Given the description of an element on the screen output the (x, y) to click on. 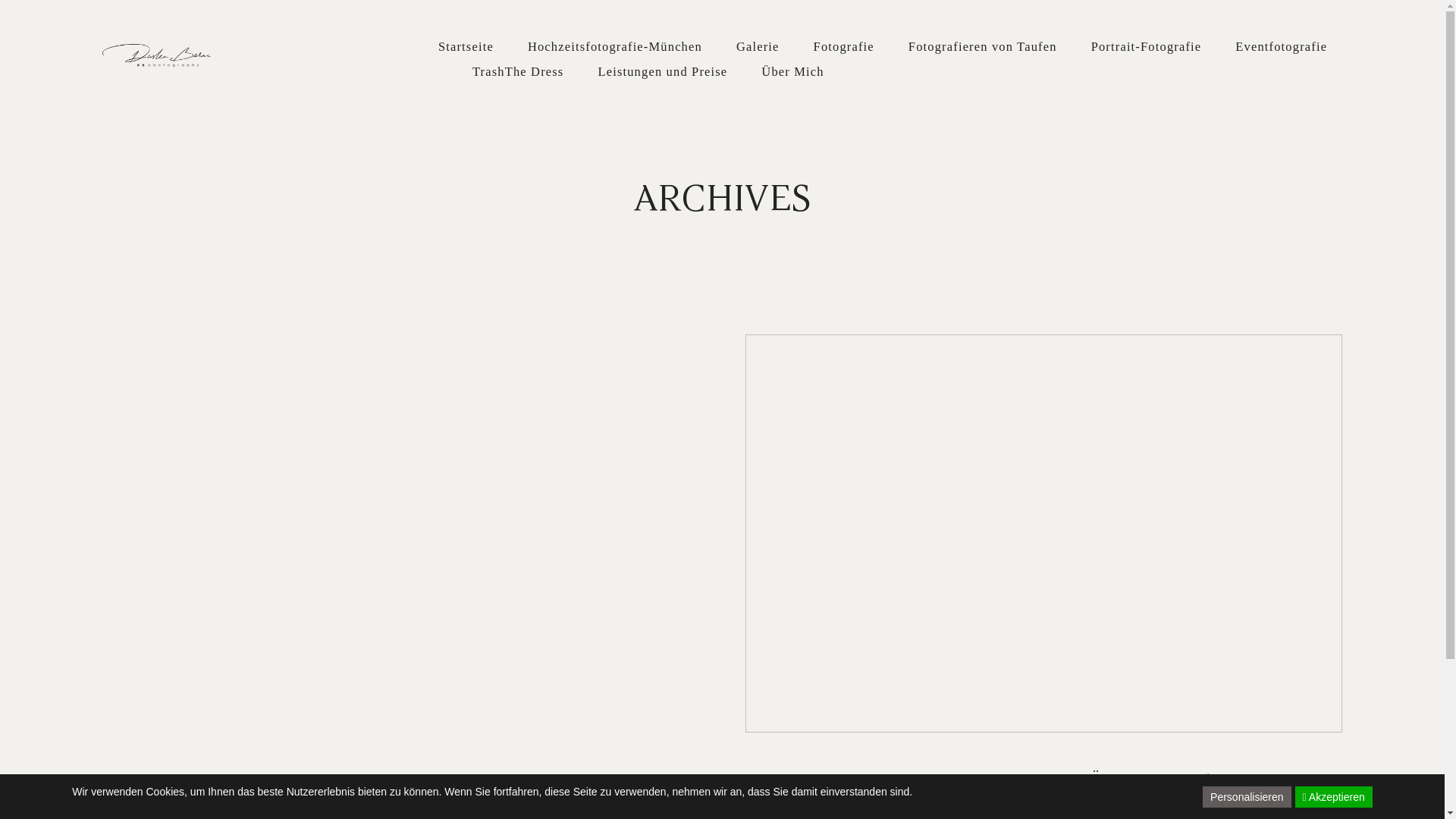
Fotografie Element type: text (843, 46)
Galerie Element type: text (757, 46)
Eventfotografie Element type: text (1281, 46)
TrashThe Dress Element type: text (518, 71)
Portrait-Fotografie Element type: text (1146, 46)
Personalisieren Element type: text (1246, 796)
Leistungen und Preise Element type: text (662, 71)
Fotografieren von Taufen Element type: text (982, 46)
Startseite Element type: text (465, 46)
